Given the description of an element on the screen output the (x, y) to click on. 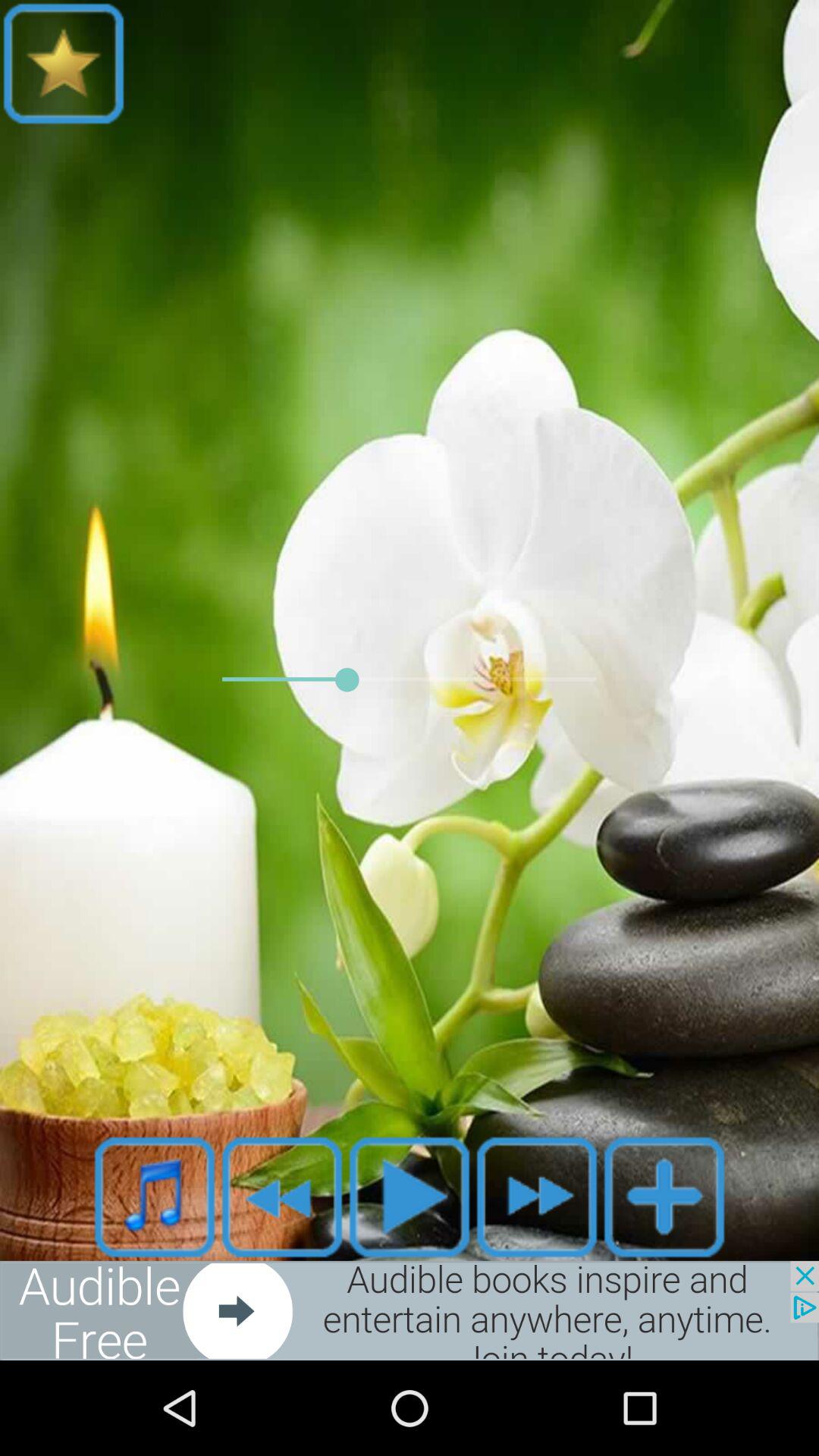
rewinde audio (281, 1196)
